Given the description of an element on the screen output the (x, y) to click on. 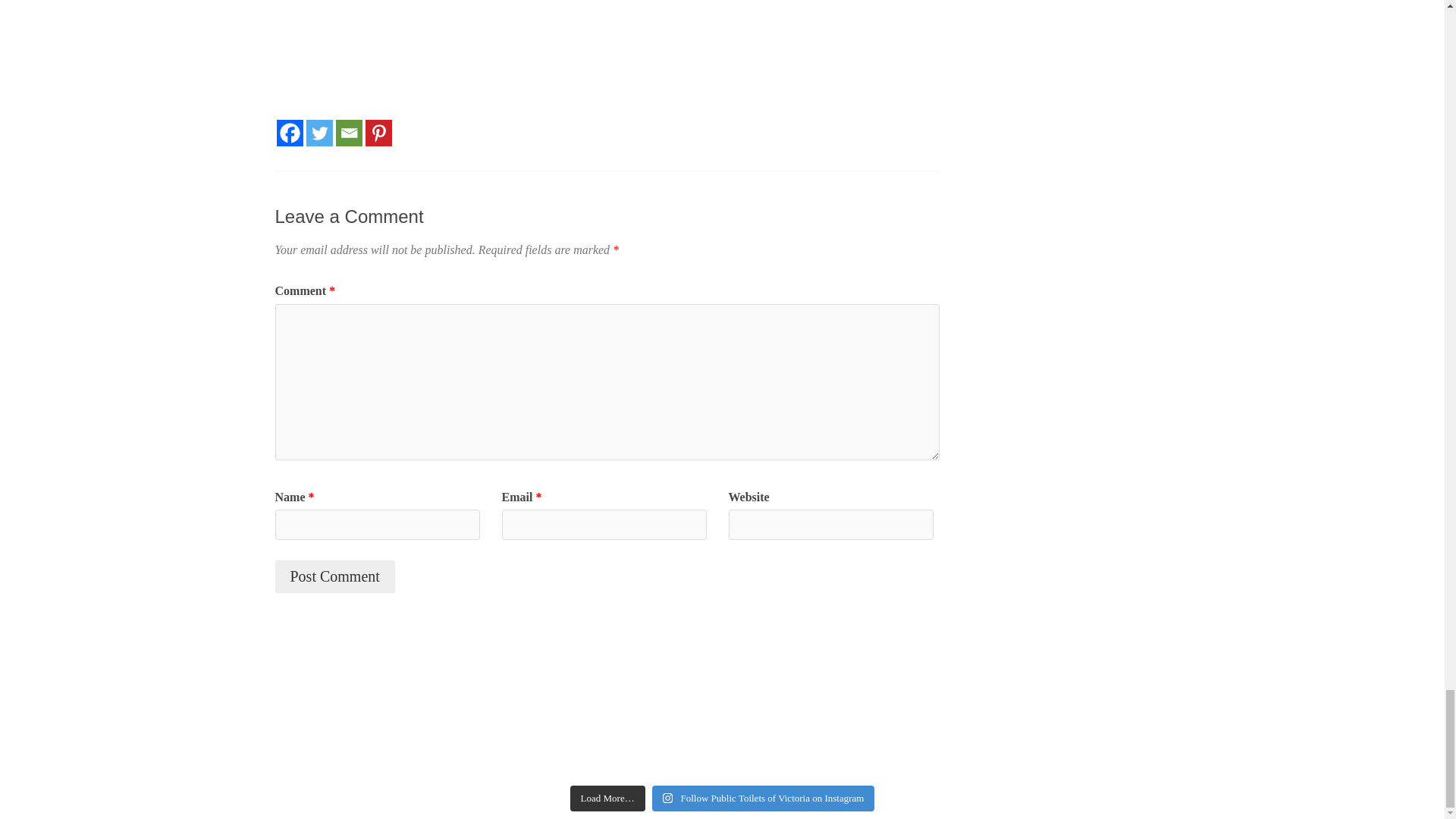
Facebook (289, 132)
Pinterest (378, 132)
Email (347, 132)
Twitter (319, 132)
Post Comment (334, 576)
